Given the description of an element on the screen output the (x, y) to click on. 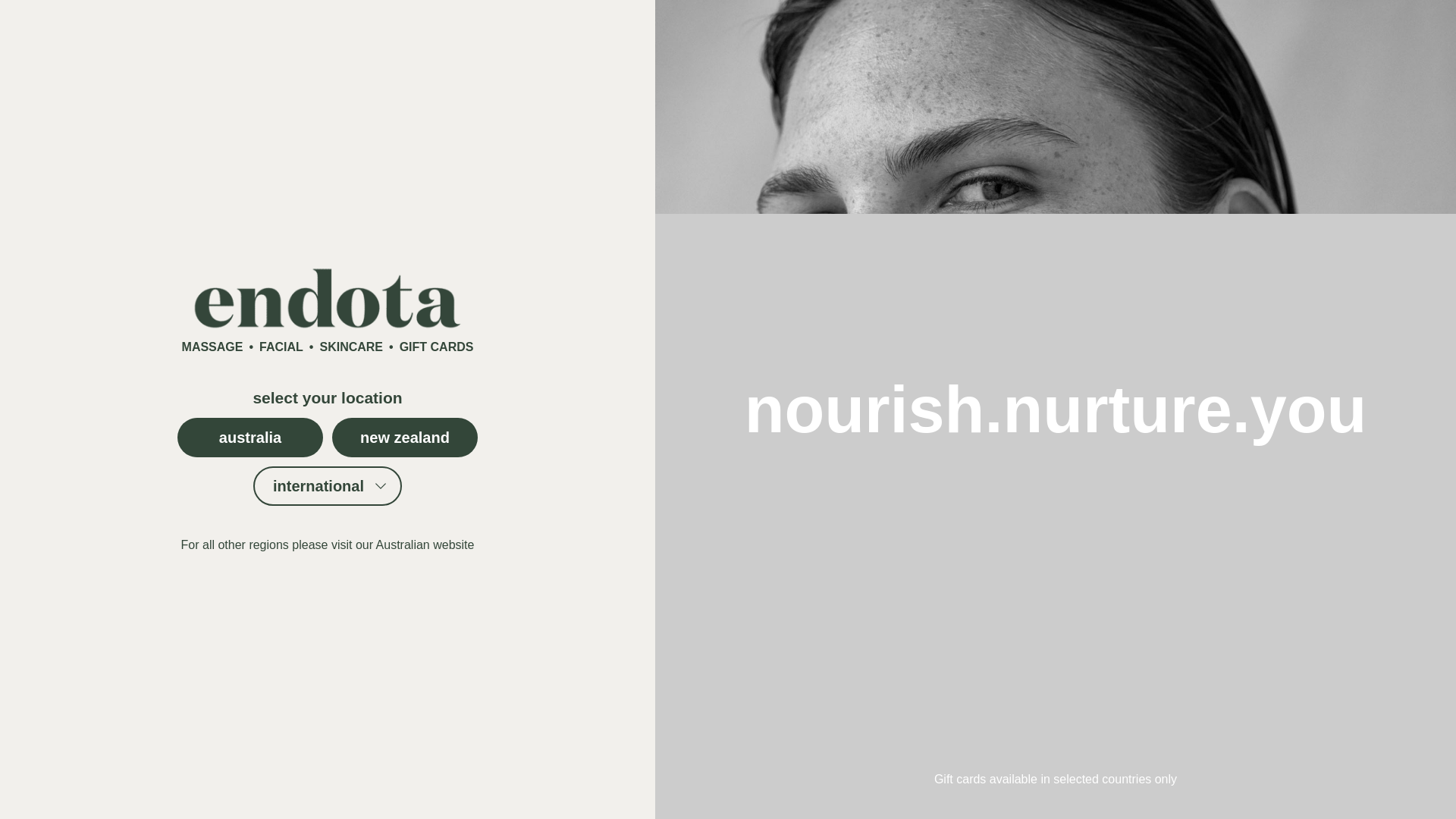
endota Australia (424, 544)
endota New Zealand (404, 437)
new zealand (404, 437)
Australian website (424, 544)
endota Australia (250, 437)
australia (250, 437)
